Given the description of an element on the screen output the (x, y) to click on. 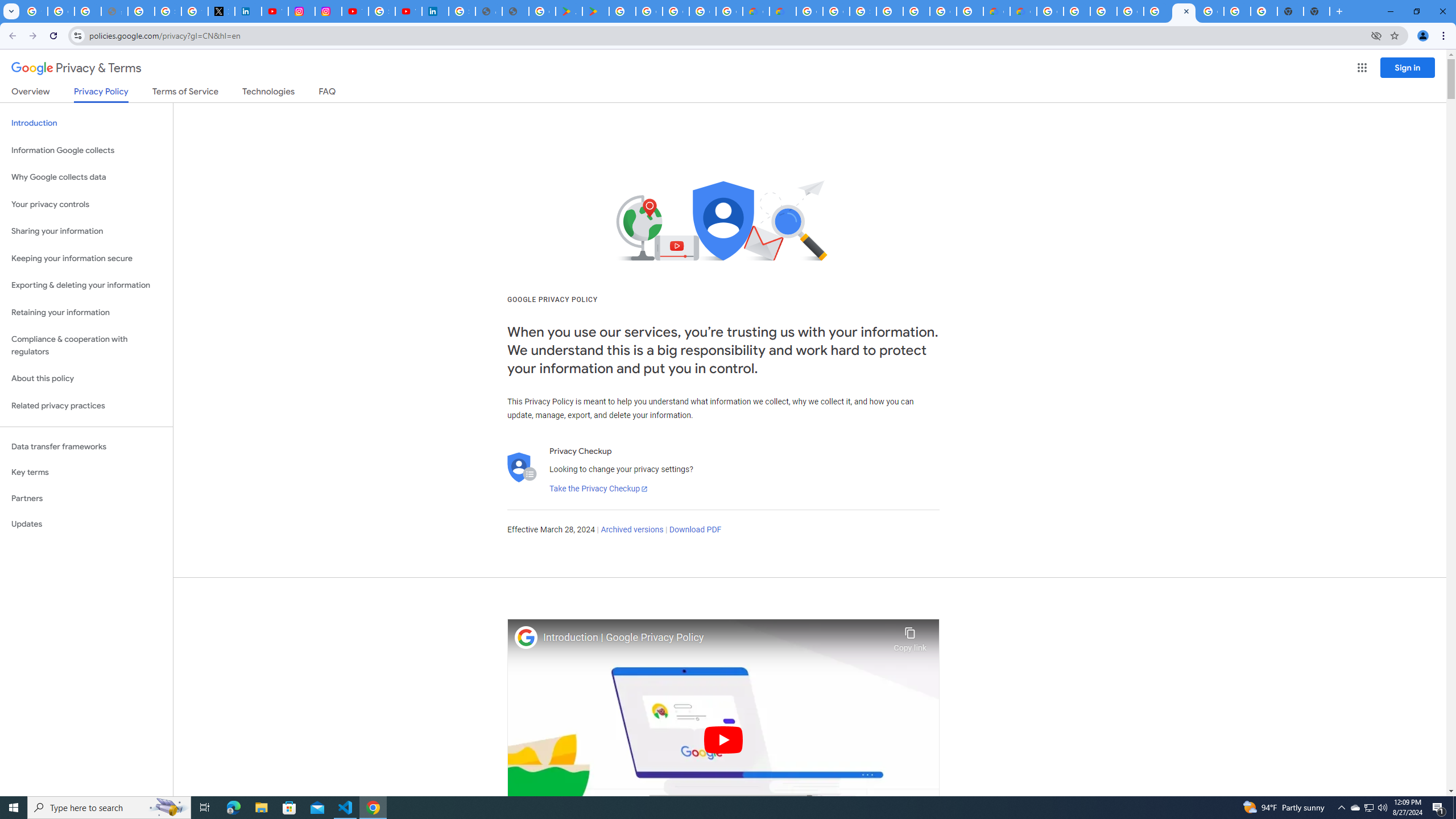
Data transfer frameworks (86, 446)
Take the Privacy Checkup (597, 488)
YouTube Content Monetization Policies - How YouTube Works (275, 11)
Introduction | Google Privacy Policy (715, 637)
LinkedIn Privacy Policy (248, 11)
Customer Care | Google Cloud (996, 11)
Information Google collects (86, 150)
